Given the description of an element on the screen output the (x, y) to click on. 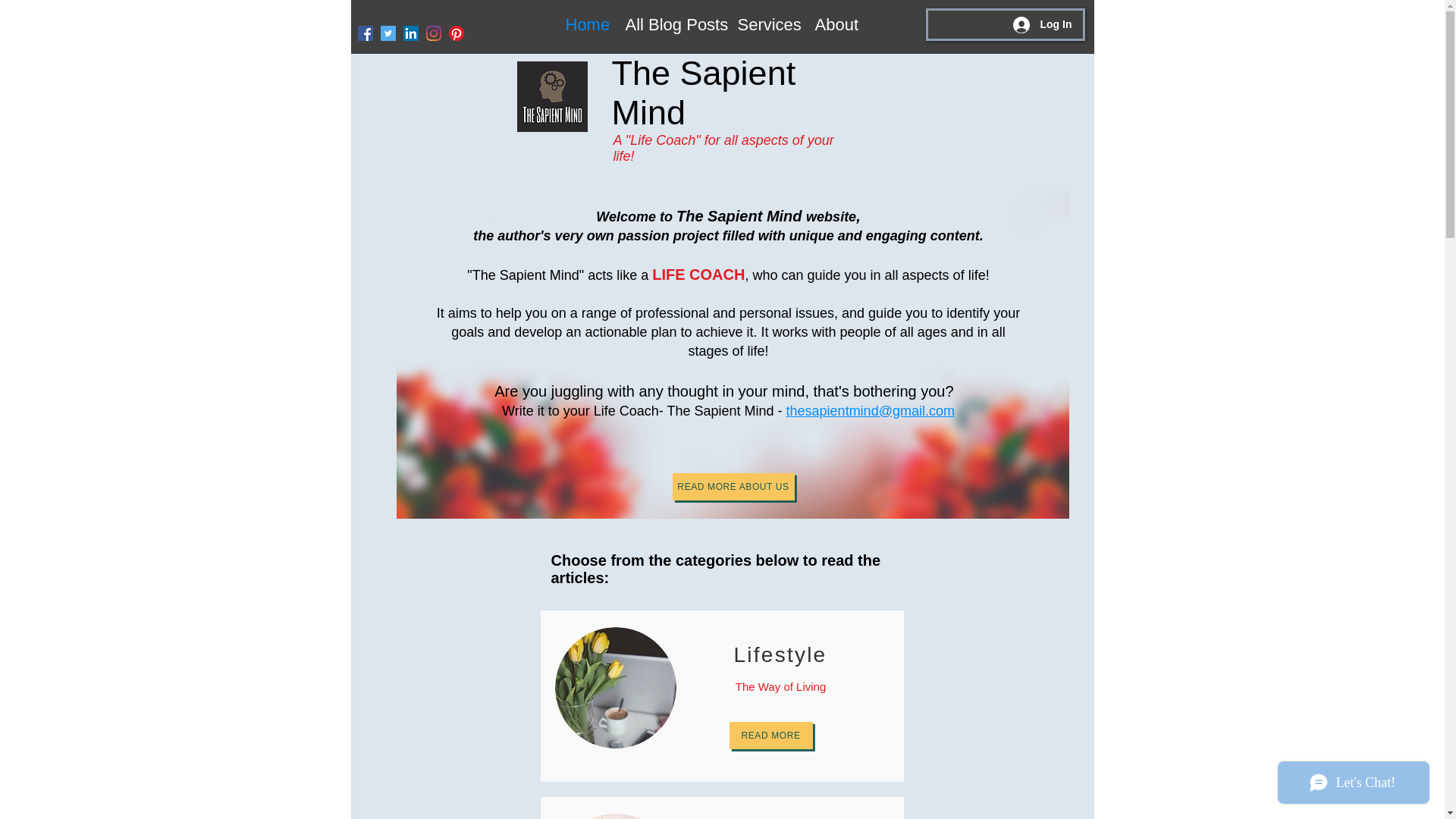
All Blog Posts (670, 27)
Home (582, 27)
Services (764, 27)
Log In (1043, 24)
About (833, 27)
READ MORE (770, 735)
READ MORE ABOUT US (732, 486)
